Given the description of an element on the screen output the (x, y) to click on. 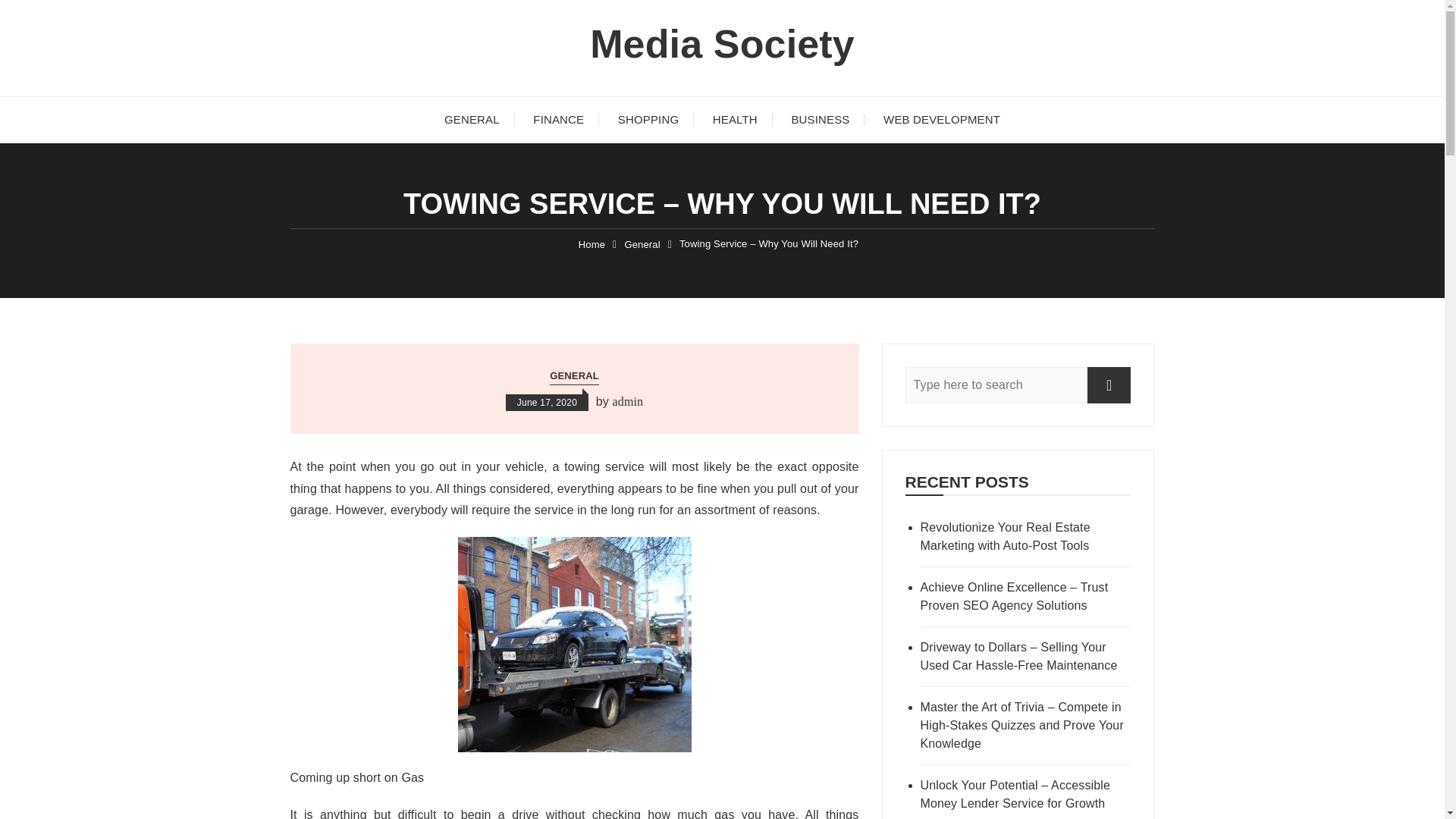
GENERAL (574, 376)
GENERAL (472, 119)
WEB DEVELOPMENT (940, 119)
admin (627, 402)
HEALTH (735, 119)
Home (591, 244)
June 17, 2020 (546, 402)
Media Society (721, 44)
General (641, 244)
SHOPPING (648, 119)
FINANCE (558, 119)
BUSINESS (820, 119)
